Given the description of an element on the screen output the (x, y) to click on. 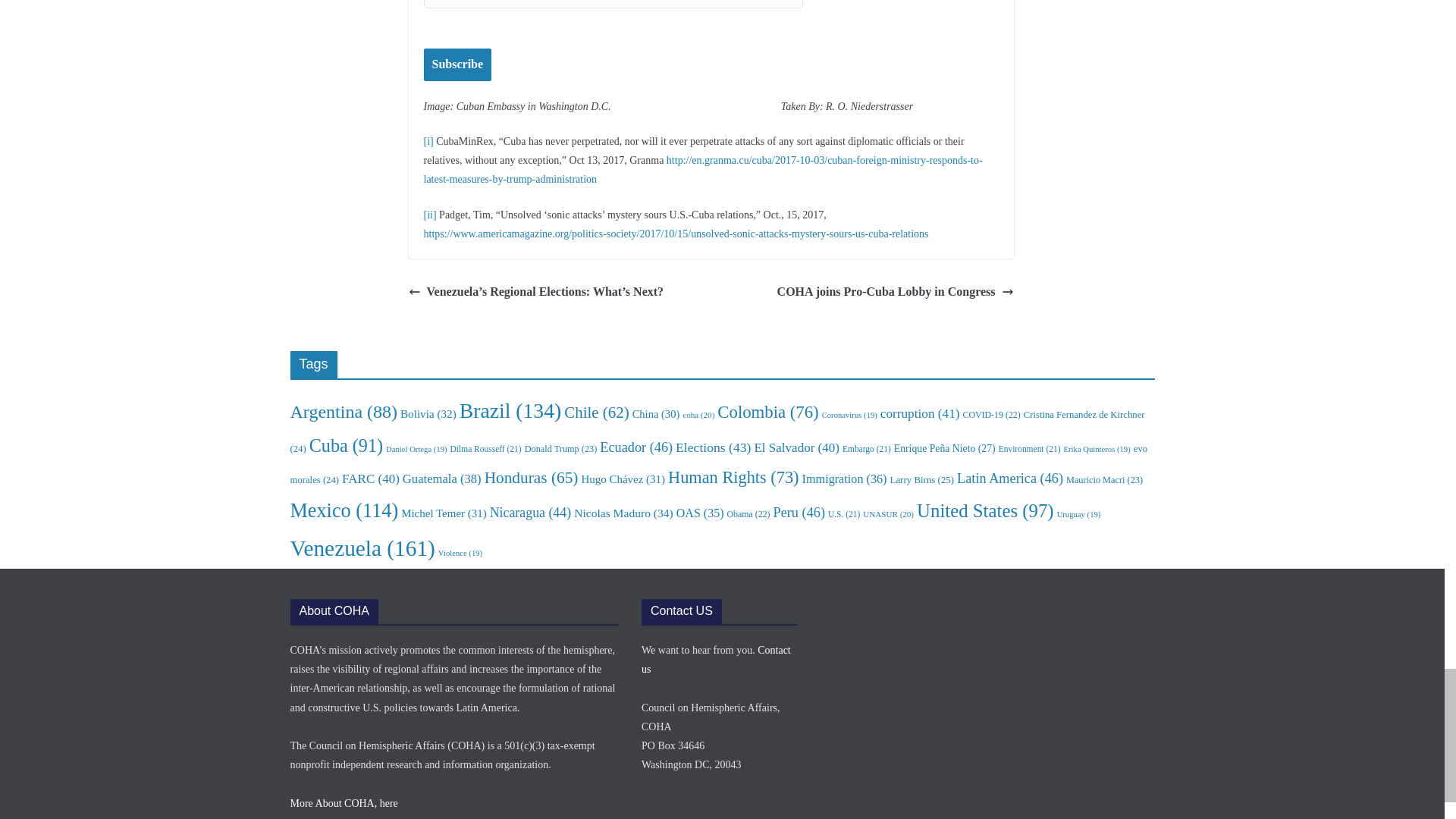
Subscribe (457, 64)
